Given the description of an element on the screen output the (x, y) to click on. 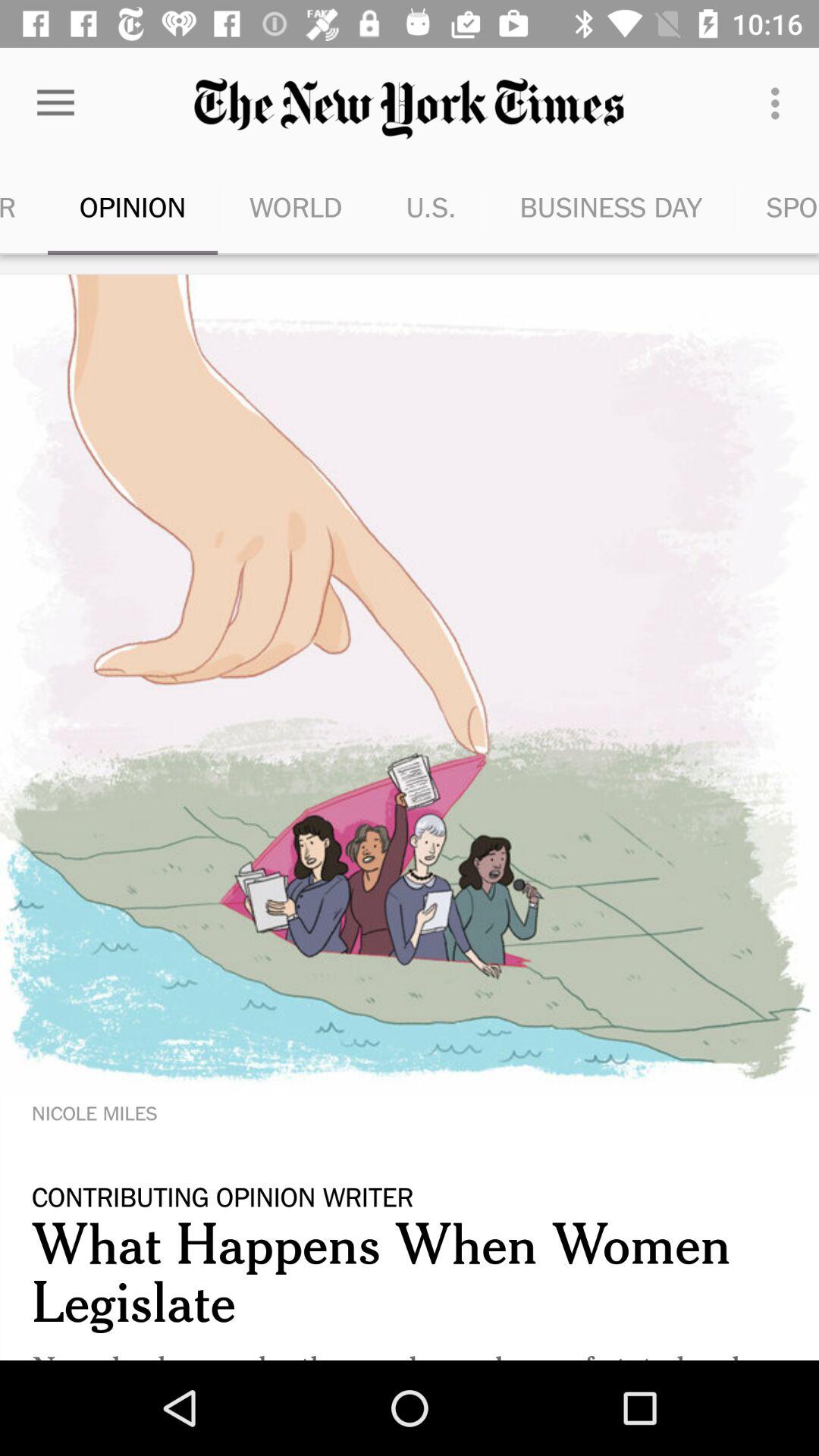
launch the icon to the left of the u.s. icon (295, 206)
